Given the description of an element on the screen output the (x, y) to click on. 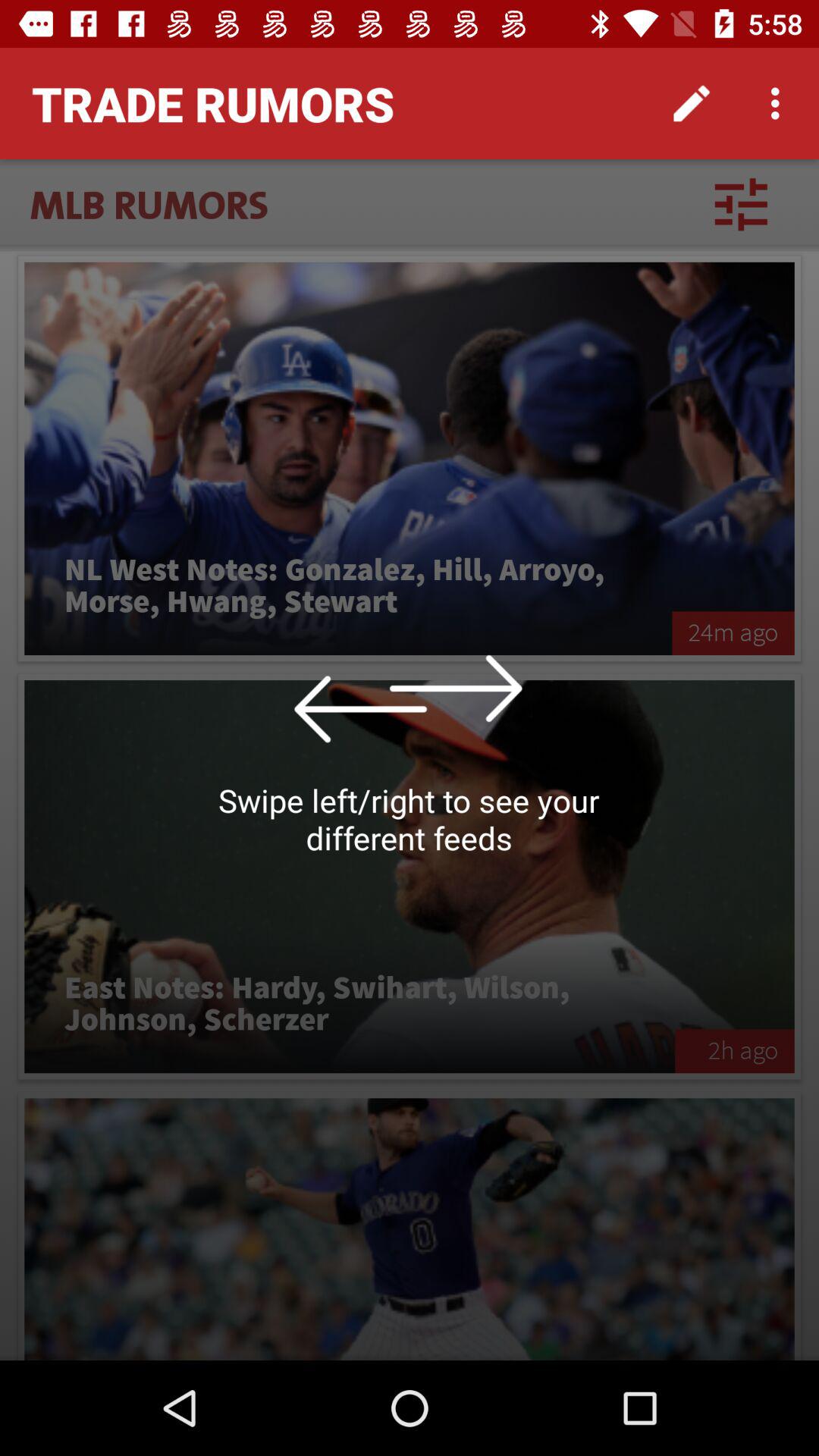
choose the icon on the right (733, 633)
